Given the description of an element on the screen output the (x, y) to click on. 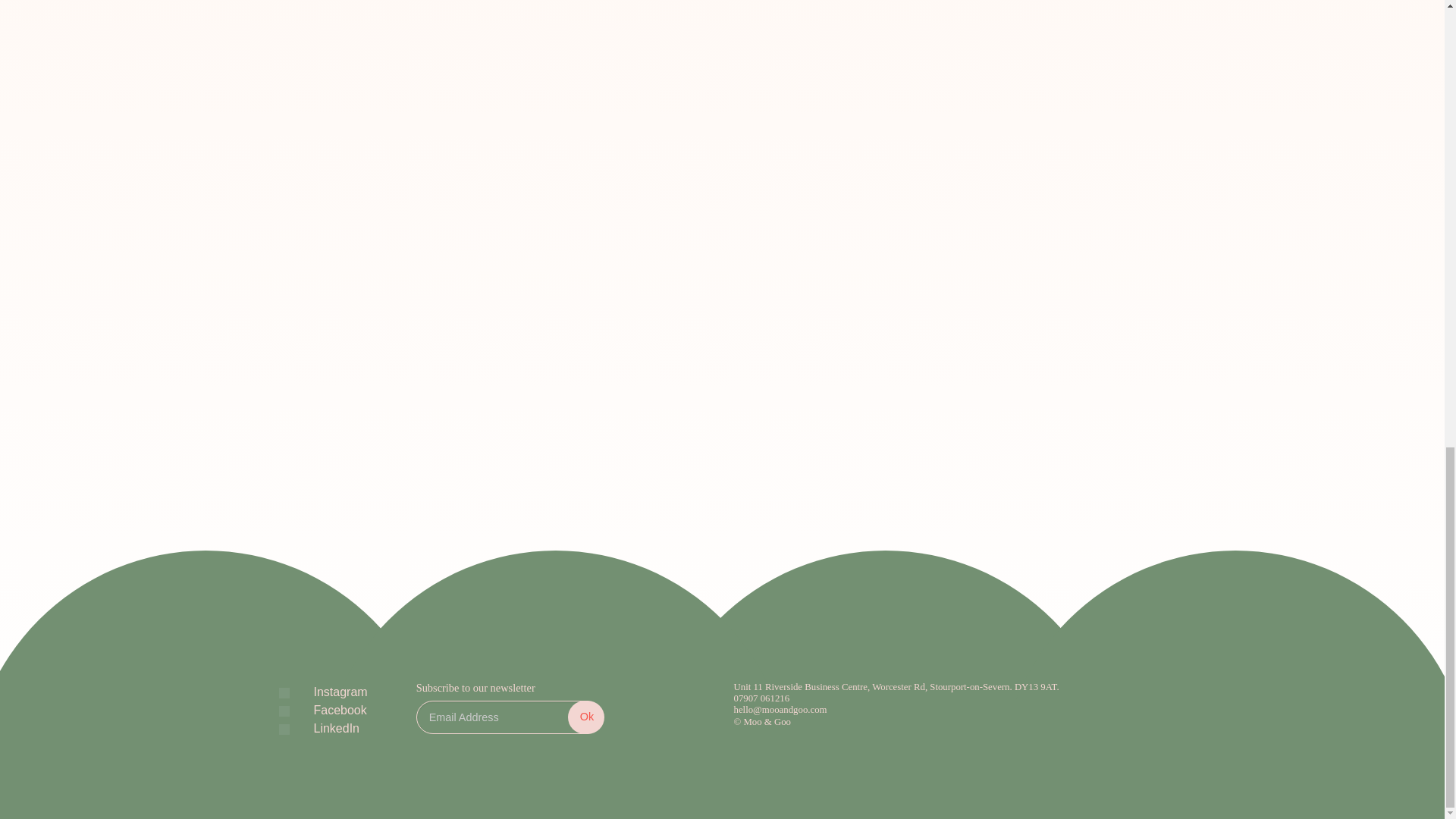
Instagram (328, 691)
07907 061216 (949, 698)
Facebook (327, 709)
LinkedIn (324, 727)
